Given the description of an element on the screen output the (x, y) to click on. 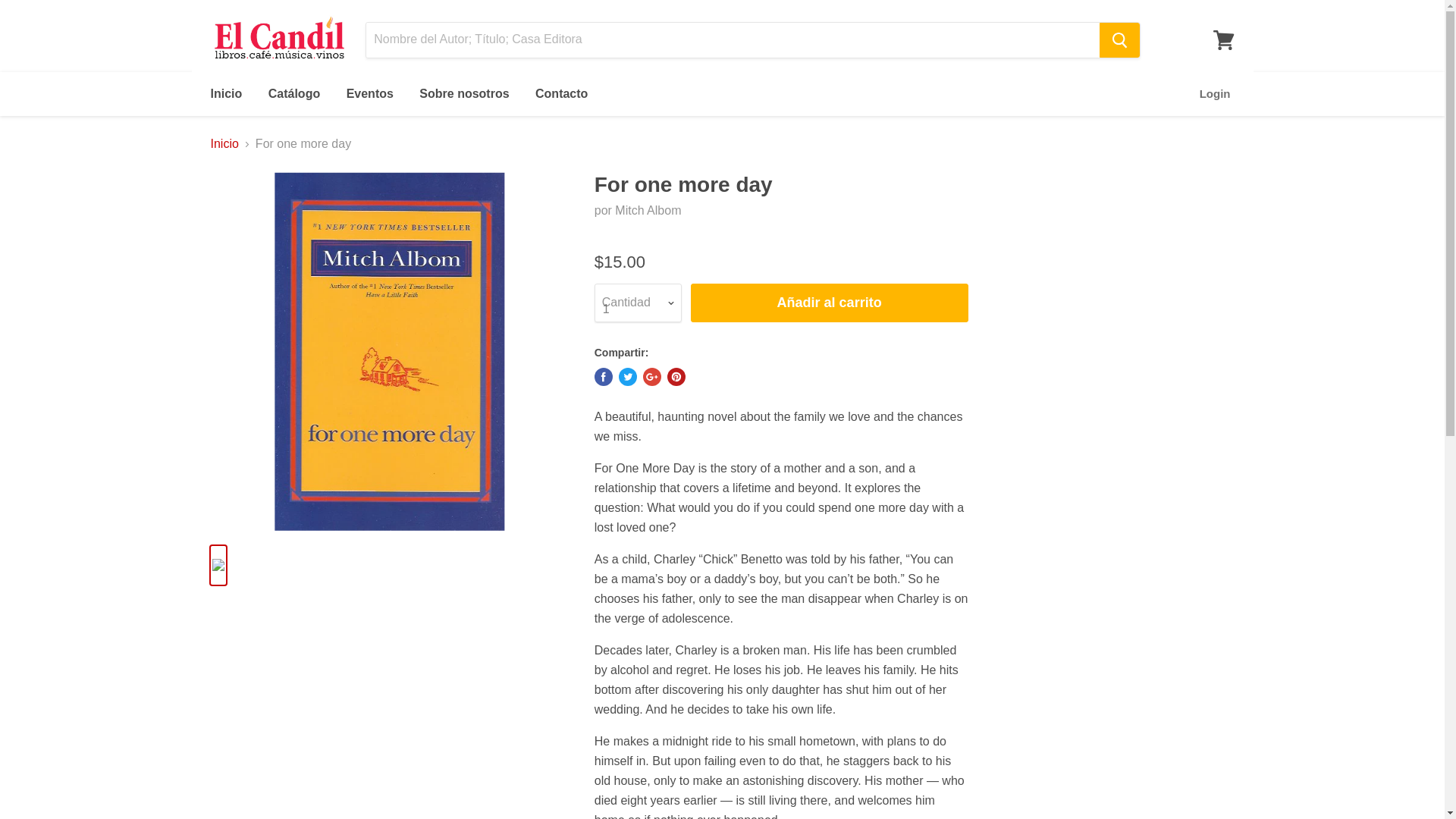
Inicio (224, 143)
Hacer Pin en Pinterest (675, 376)
Compartir en Facebook (603, 376)
Ver carrito (1223, 39)
Tuitear en Twitter (627, 376)
Eventos (369, 93)
Login (1215, 93)
Sobre nosotros (463, 93)
Inicio (225, 93)
Contacto (561, 93)
